Given the description of an element on the screen output the (x, y) to click on. 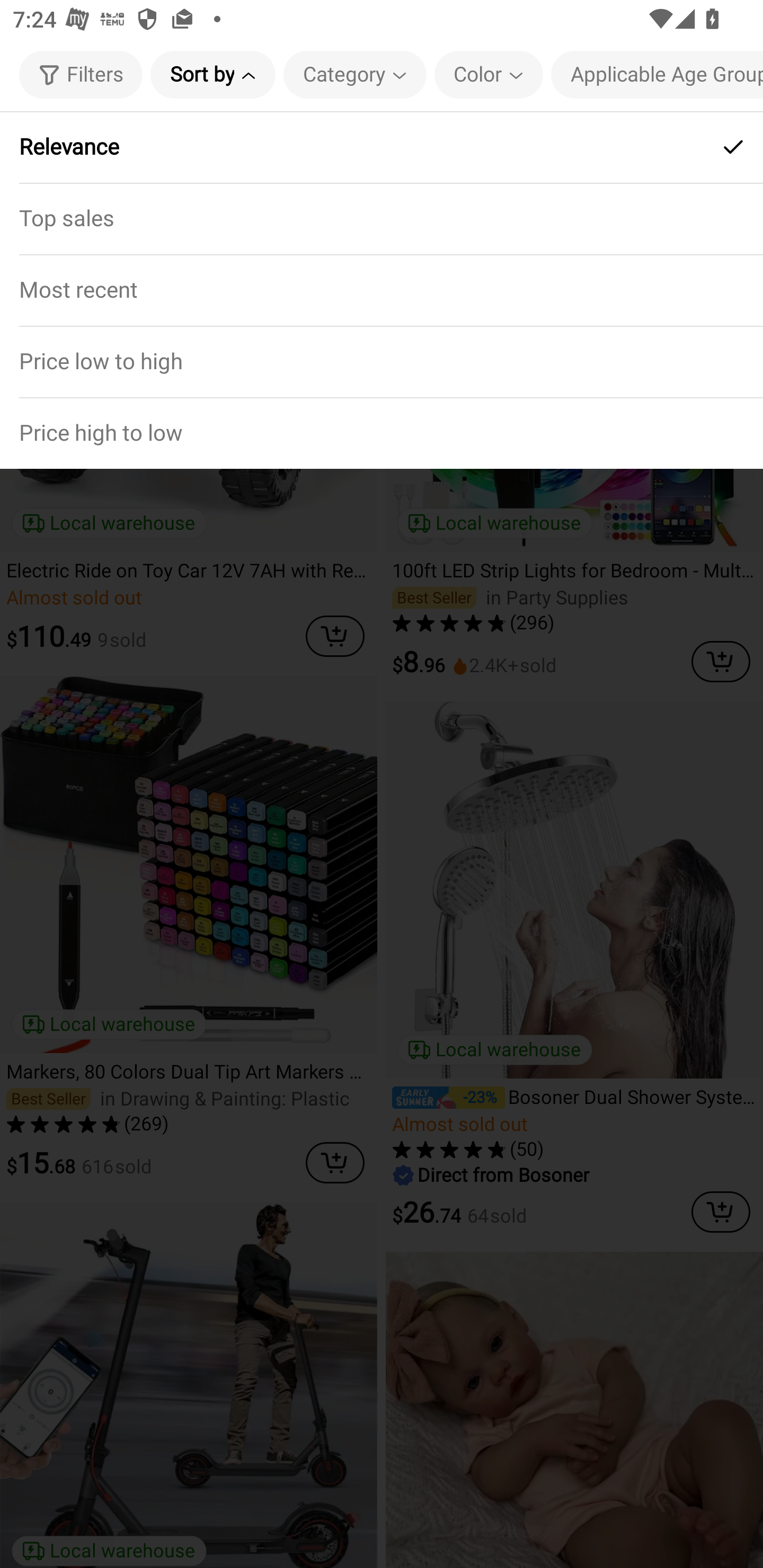
Filters (80, 74)
Sort by (212, 74)
Category (354, 74)
Color (488, 74)
Applicable Age Group (656, 74)
Relevance (381, 147)
Top sales (381, 218)
Most recent (381, 290)
Price low to high (381, 361)
Price high to low (381, 432)
